Given the description of an element on the screen output the (x, y) to click on. 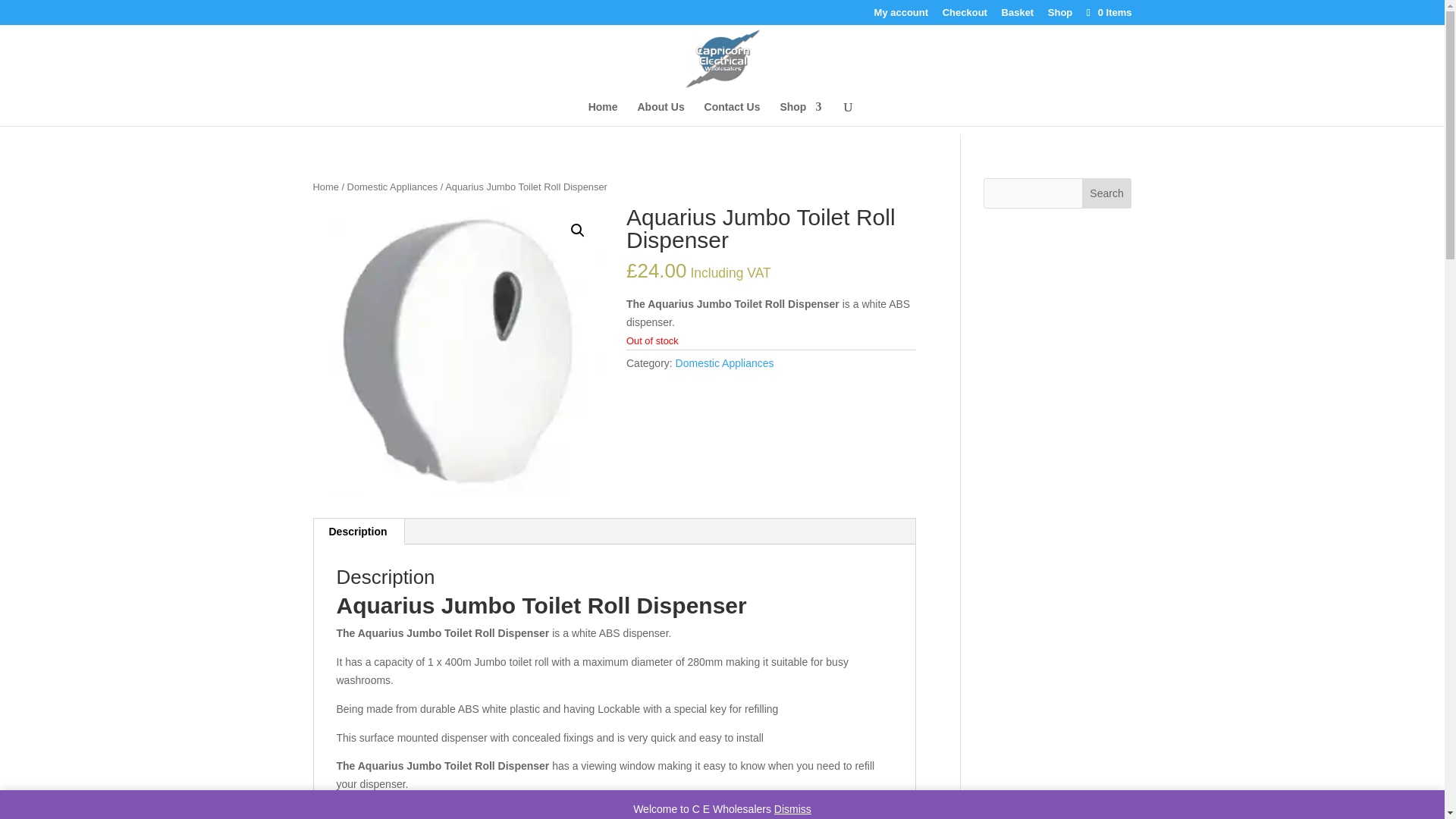
My account (901, 16)
toilet roll (457, 351)
Home (602, 113)
Shop (799, 113)
Basket (1017, 16)
Checkout (964, 16)
Shop (1060, 16)
Contact Us (732, 113)
About Us (660, 113)
0 Items (1107, 12)
